Given the description of an element on the screen output the (x, y) to click on. 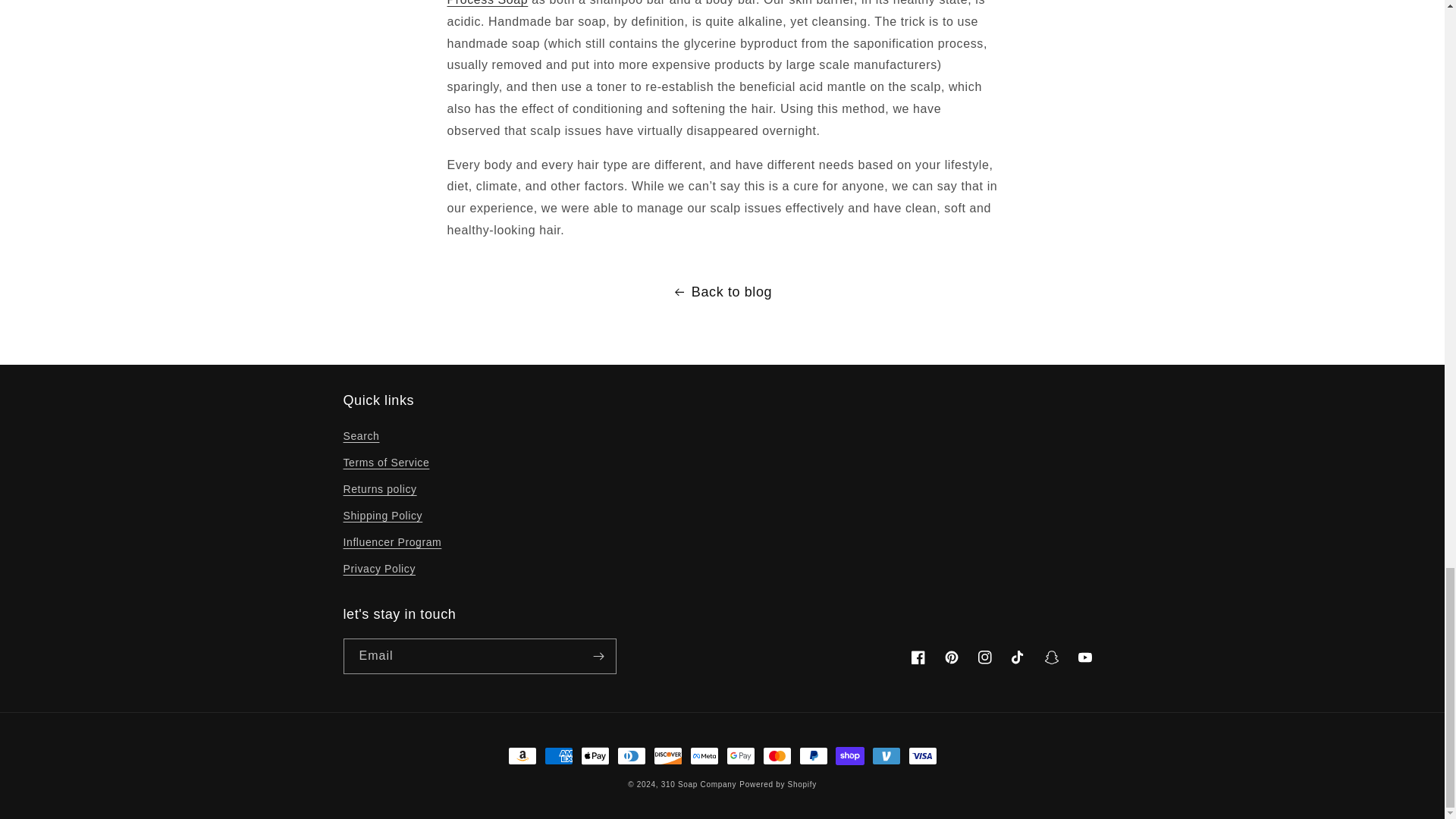
Terms of Service (385, 462)
Search (360, 437)
Influencer Program (391, 542)
Returns policy (379, 488)
Privacy Policy (378, 569)
Shipping Policy (382, 515)
